Given the description of an element on the screen output the (x, y) to click on. 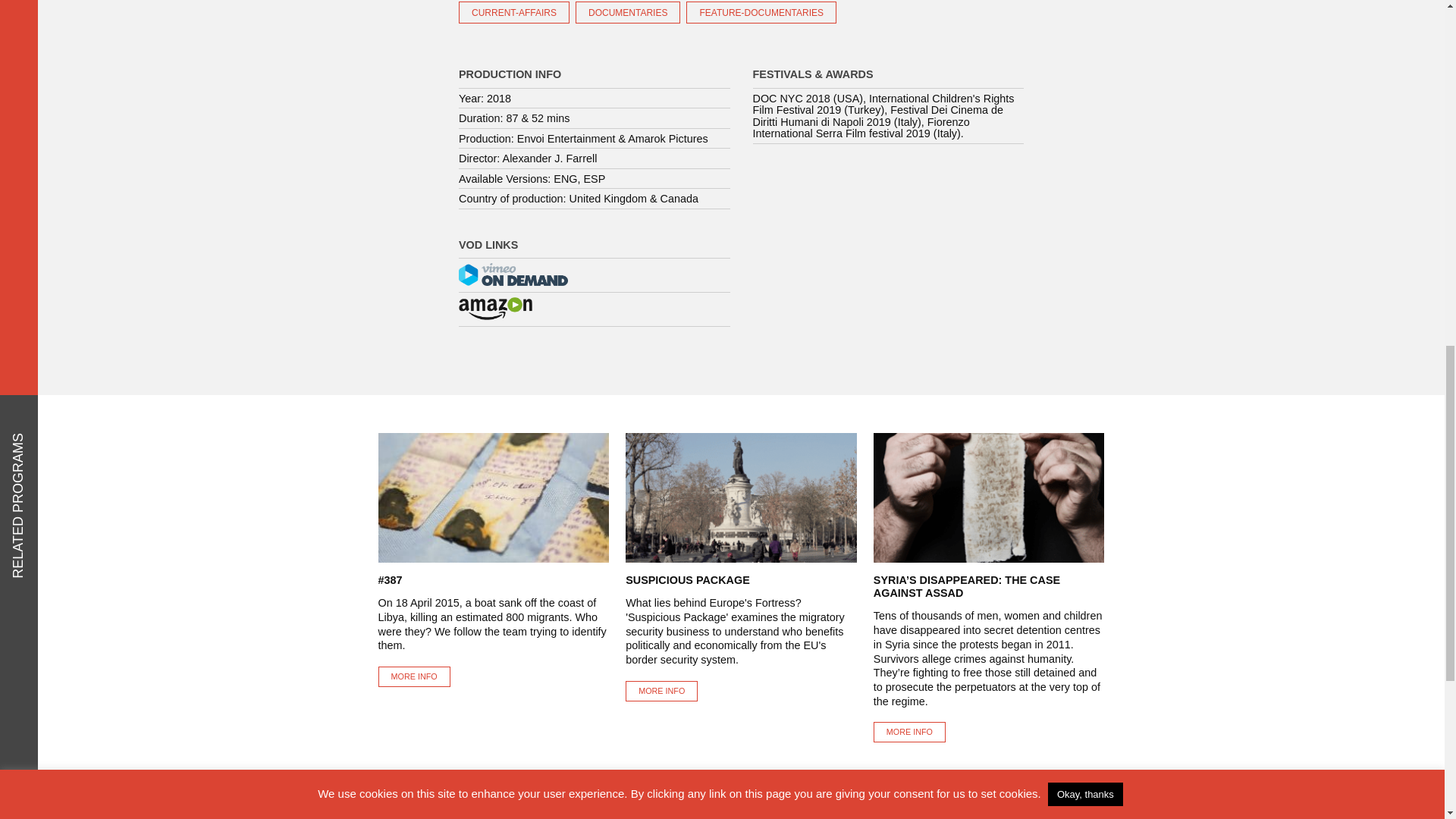
DOCUMENTARIES (627, 12)
CURRENT-AFFAIRS (513, 12)
FEATURE-DOCUMENTARIES (760, 12)
